Given the description of an element on the screen output the (x, y) to click on. 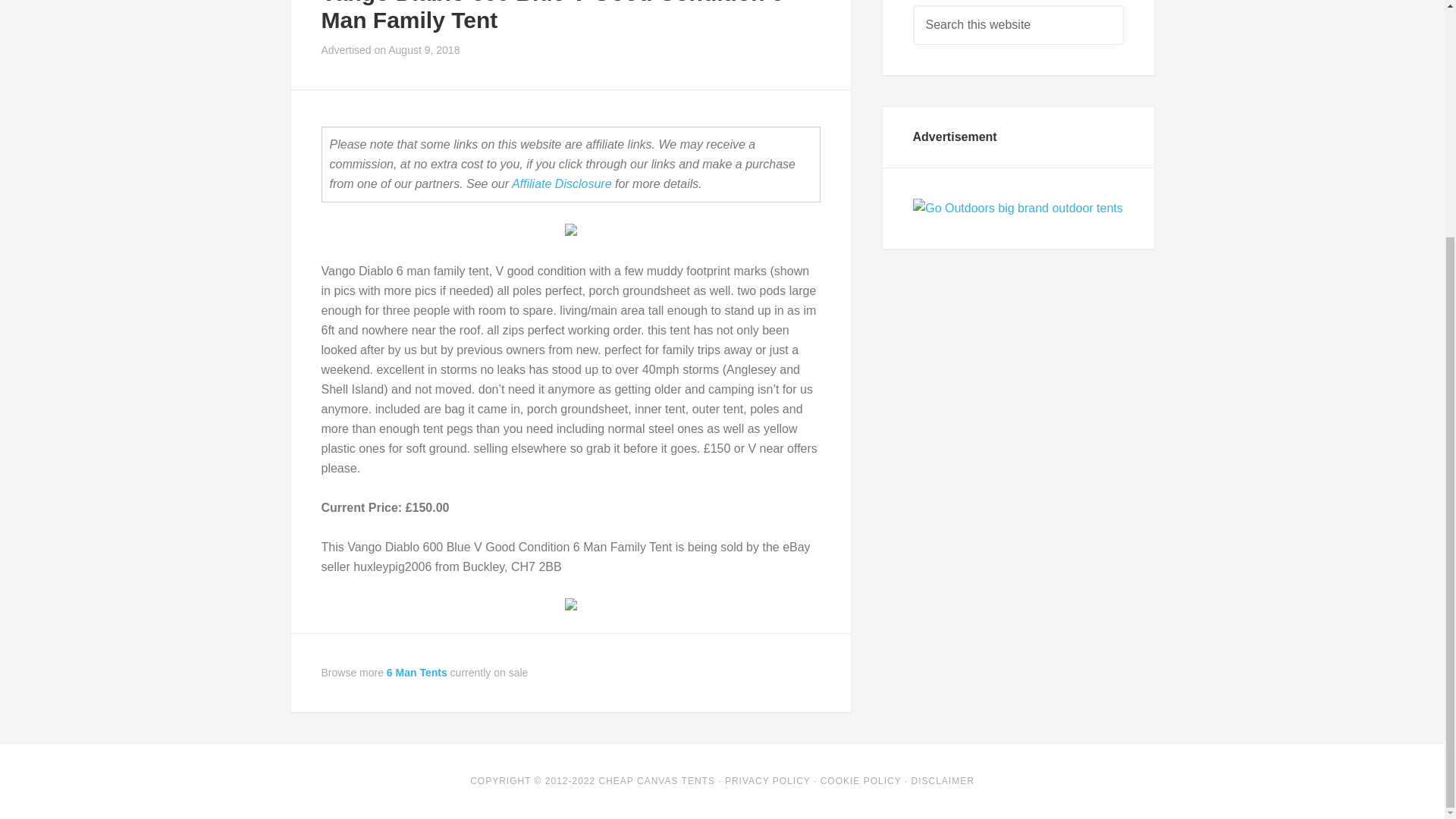
CHEAP CANVAS TENTS (656, 780)
PRIVACY POLICY (767, 780)
Cheap Canvas Tents for Sale (656, 780)
Affiliate Disclosure (561, 183)
DISCLAIMER (942, 780)
COOKIE POLICY (861, 780)
Link to Affiliate Disclosure (561, 183)
6 Man Tents (416, 672)
